Given the description of an element on the screen output the (x, y) to click on. 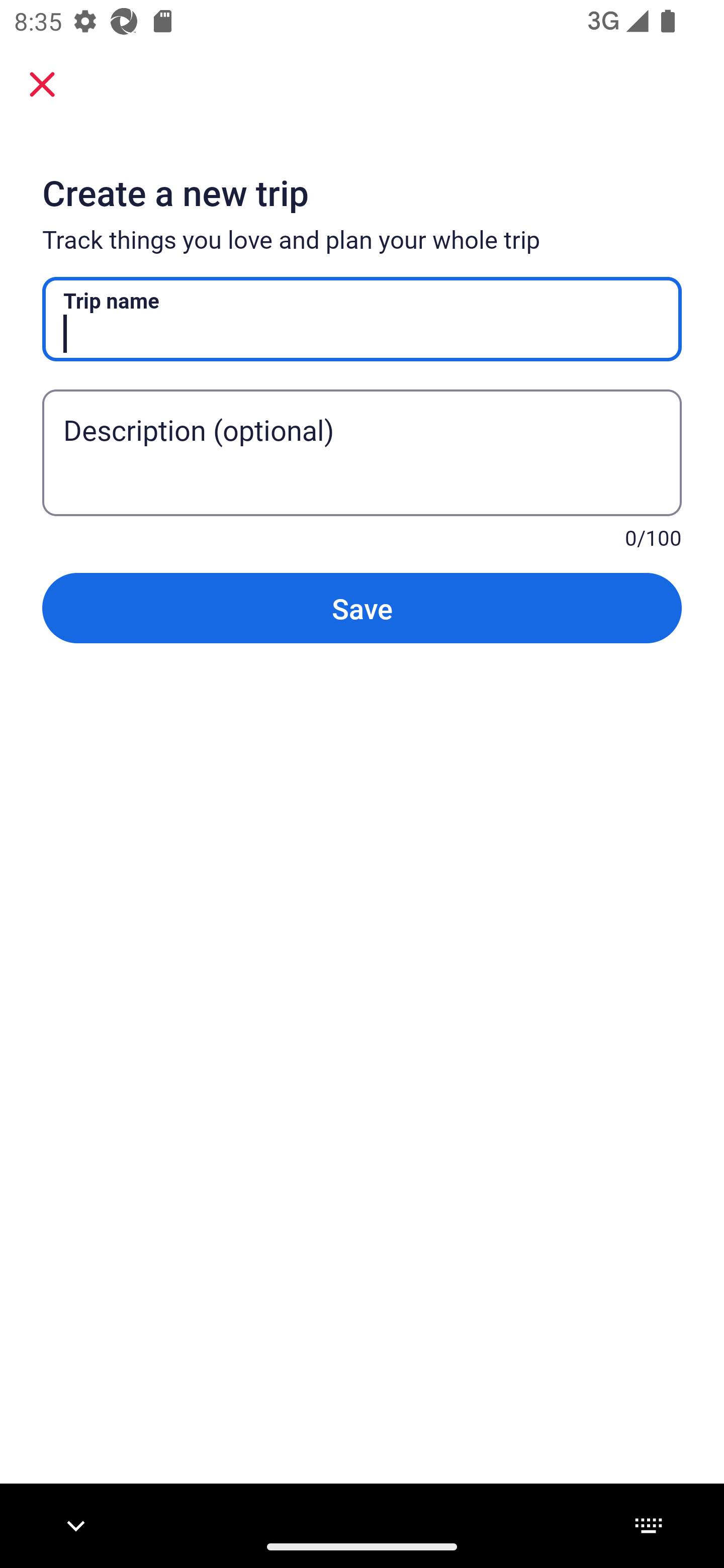
Close (41, 83)
Trip name (361, 318)
Save Button Save (361, 607)
